Given the description of an element on the screen output the (x, y) to click on. 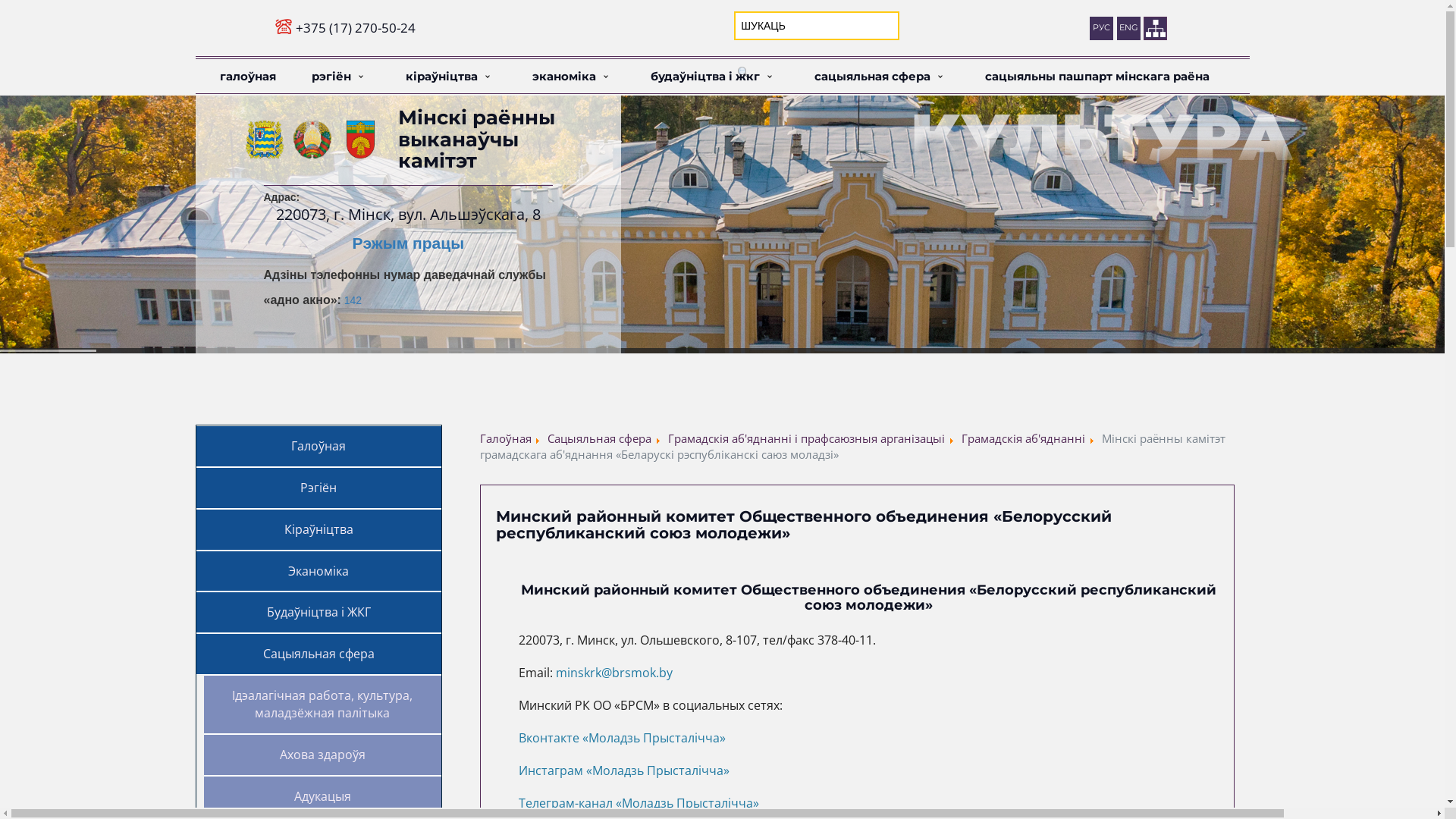
+375 (17) 270-50-24 Element type: text (355, 27)
142 Element type: text (352, 300)
minskrk@brsmok.by Element type: text (613, 672)
ENG Element type: text (1128, 28)
